Given the description of an element on the screen output the (x, y) to click on. 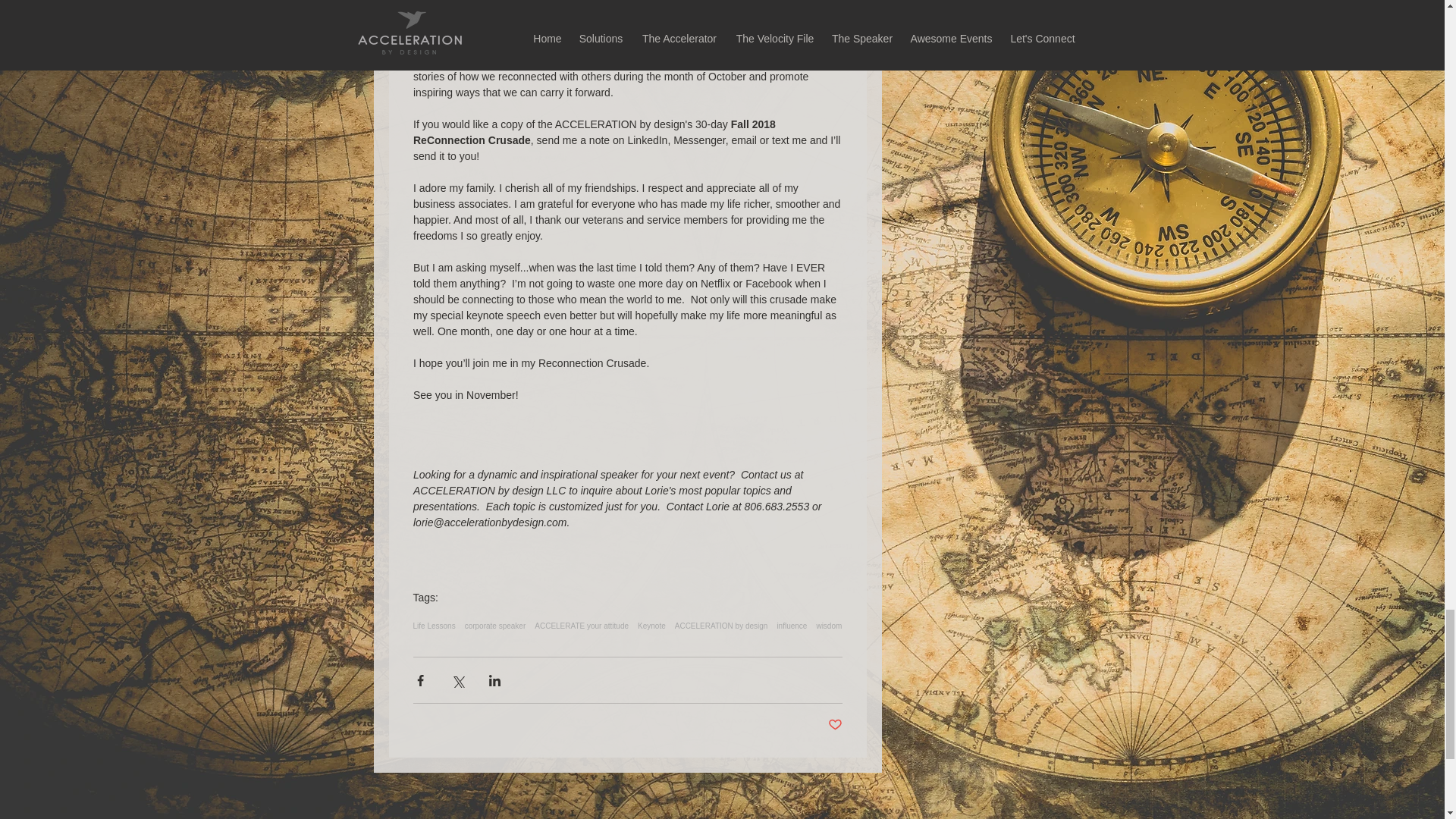
wisdom (828, 625)
corporate speaker (494, 625)
Keynote (651, 625)
influence (791, 625)
ACCELERATE your attitude (581, 625)
Life Lessons (433, 625)
Post not marked as liked (835, 725)
ACCELERATION by design (721, 625)
